Given the description of an element on the screen output the (x, y) to click on. 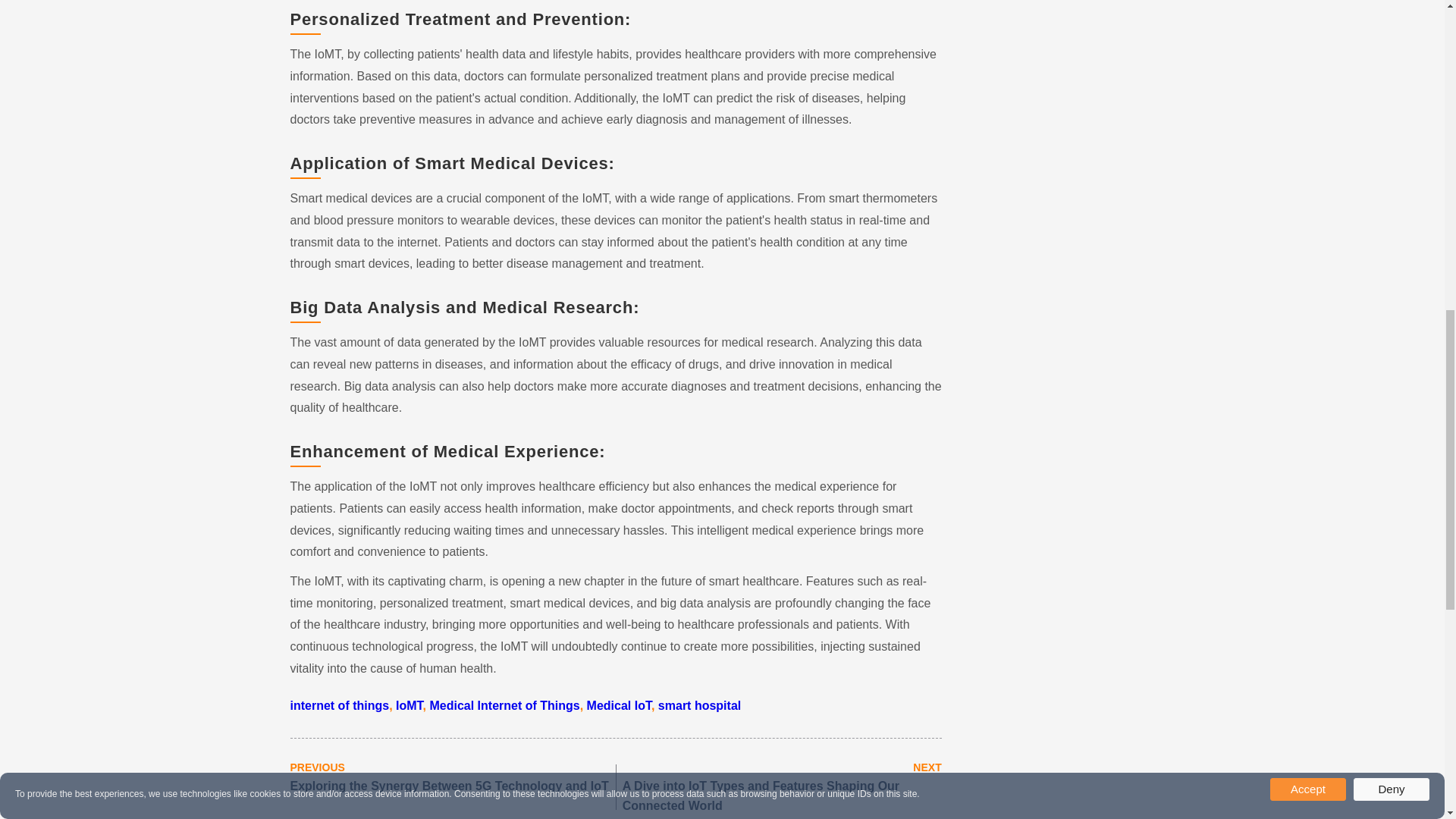
Accept (1307, 379)
Deny (1391, 379)
